Given the description of an element on the screen output the (x, y) to click on. 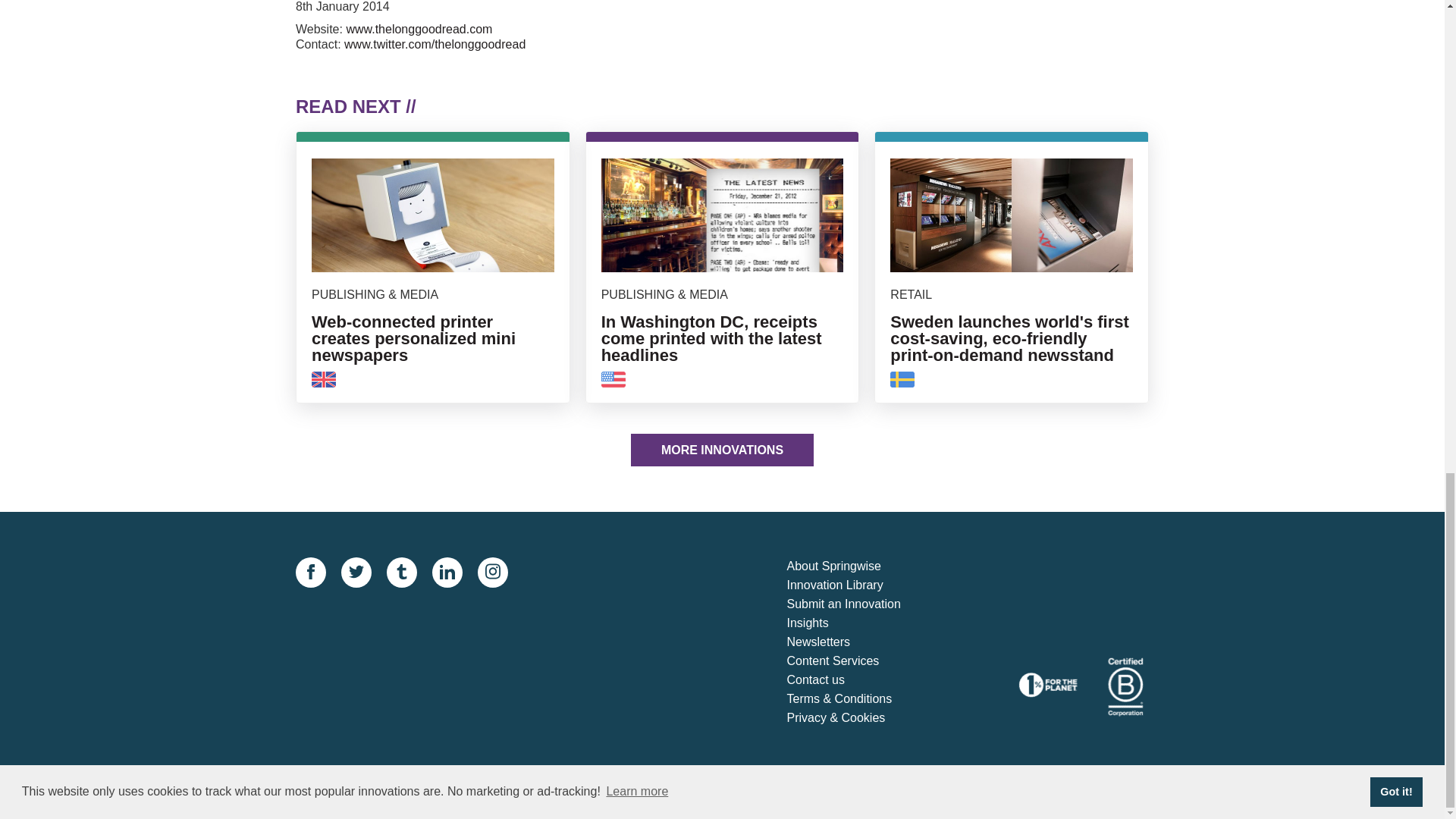
Innovation Library (856, 585)
About Springwise (856, 566)
www.thelonggoodread.com (419, 29)
Contact us (856, 680)
MORE INNOVATIONS (721, 450)
Insights (856, 623)
Newsletters (856, 642)
Content Services (856, 660)
Submit an Innovation (856, 604)
